Given the description of an element on the screen output the (x, y) to click on. 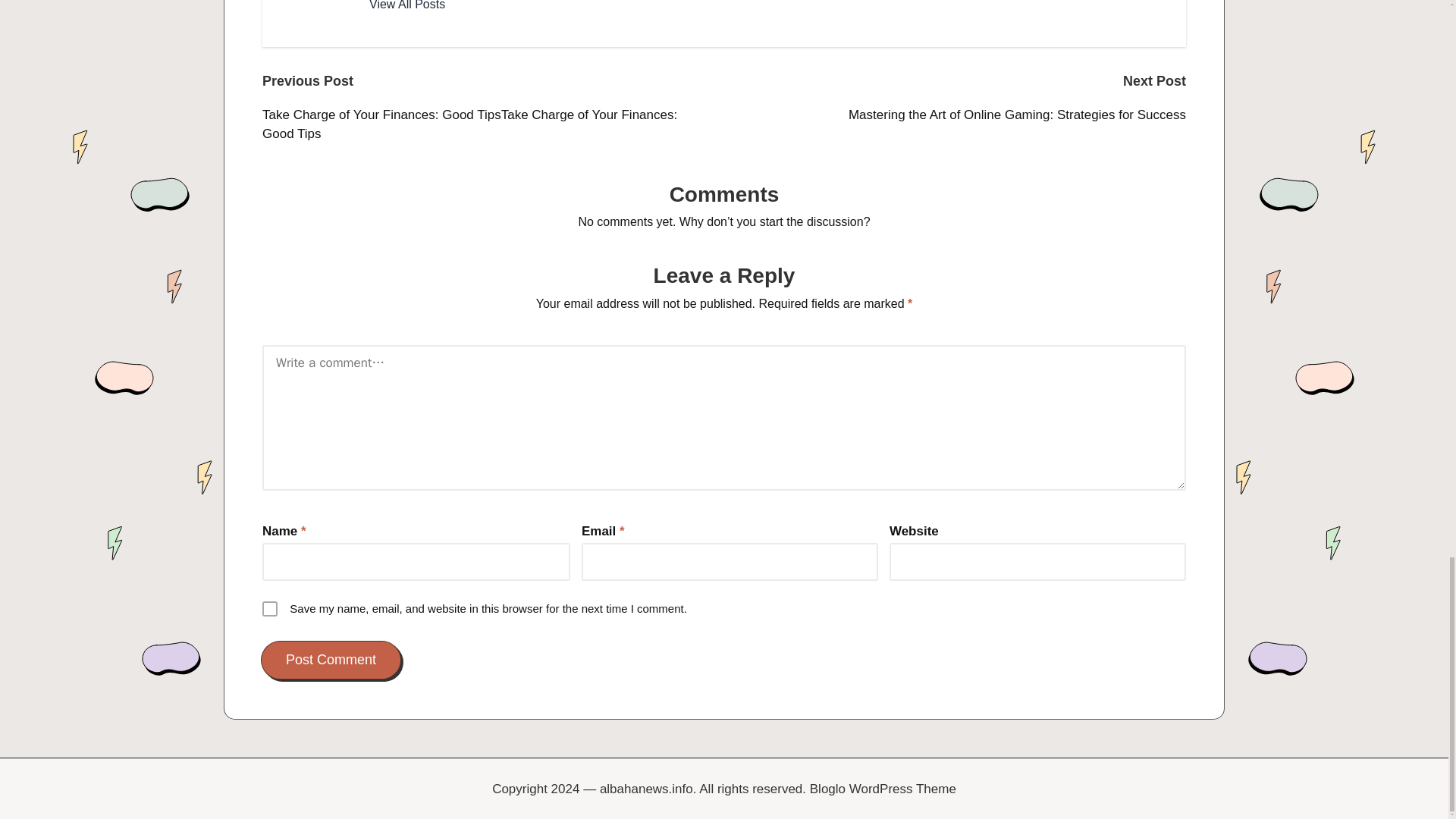
Mastering the Art of Online Gaming: Strategies for Success (954, 115)
Post Comment (330, 659)
yes (270, 608)
Post Comment (330, 659)
View All Posts (407, 6)
Bloglo WordPress Theme (882, 789)
